Given the description of an element on the screen output the (x, y) to click on. 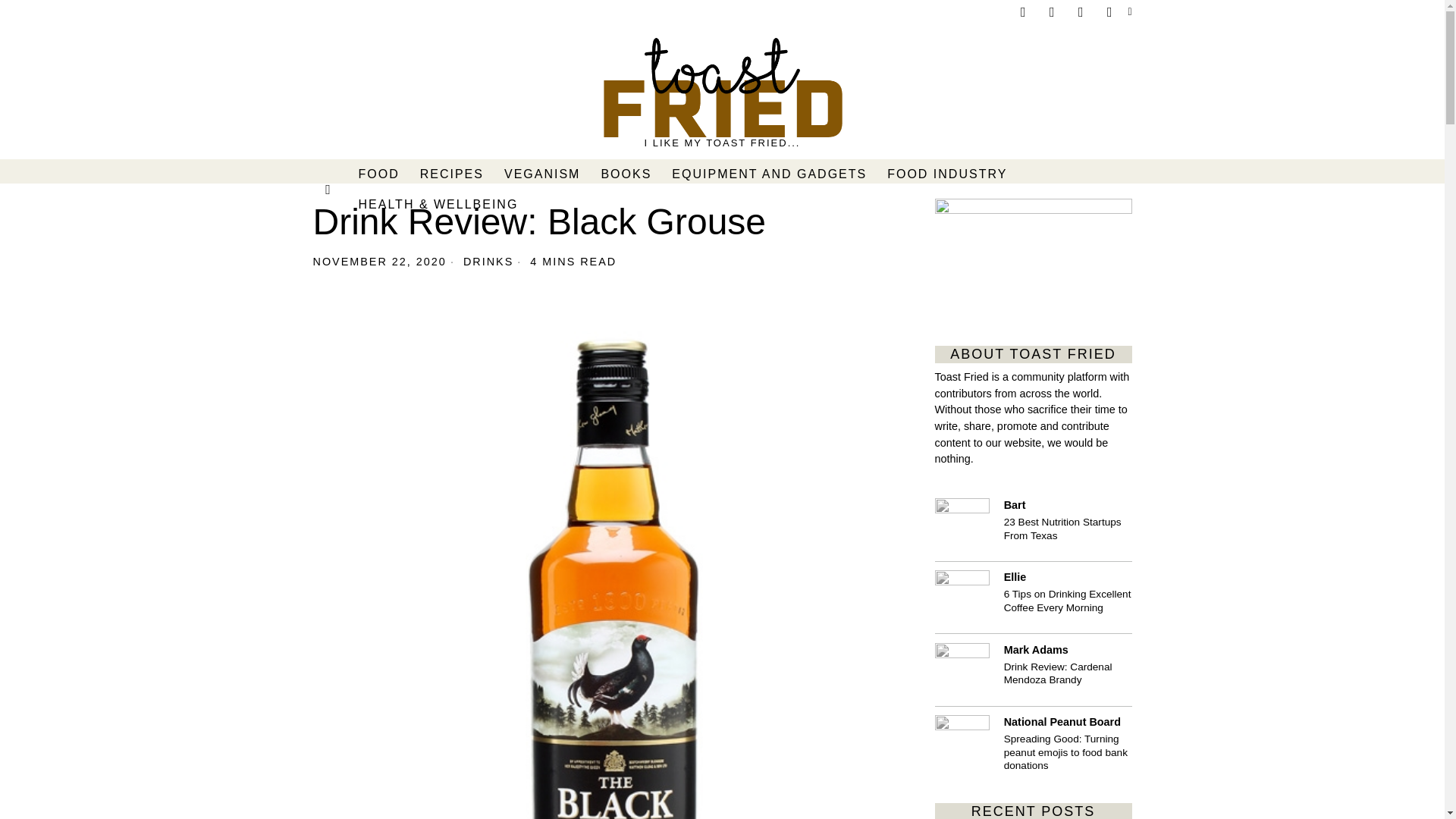
Bart (961, 524)
FOOD INDUSTRY (947, 173)
22 Nov, 2020 05:19:47 (379, 261)
FOOD (379, 173)
Ellie (961, 597)
BOOKS (626, 173)
RECIPES (452, 173)
VEGANISM (543, 173)
DRINKS (488, 261)
EQUIPMENT AND GADGETS (769, 173)
